Given the description of an element on the screen output the (x, y) to click on. 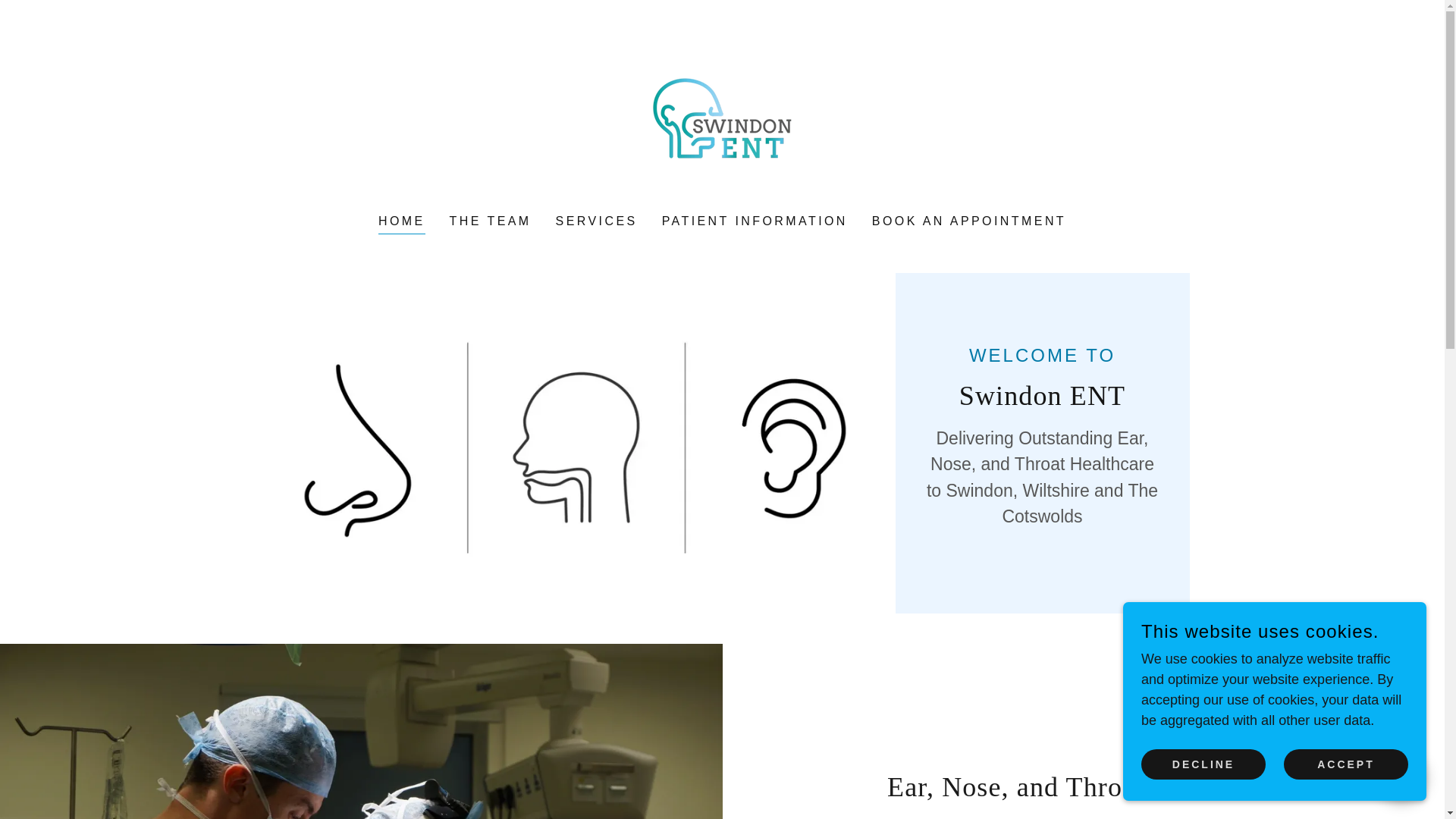
SERVICES (596, 221)
Swindon ENT (721, 117)
HOME (401, 223)
BOOK AN APPOINTMENT (968, 221)
DECLINE (1203, 764)
ACCEPT (1345, 764)
THE TEAM (490, 221)
PATIENT INFORMATION (754, 221)
